Given the description of an element on the screen output the (x, y) to click on. 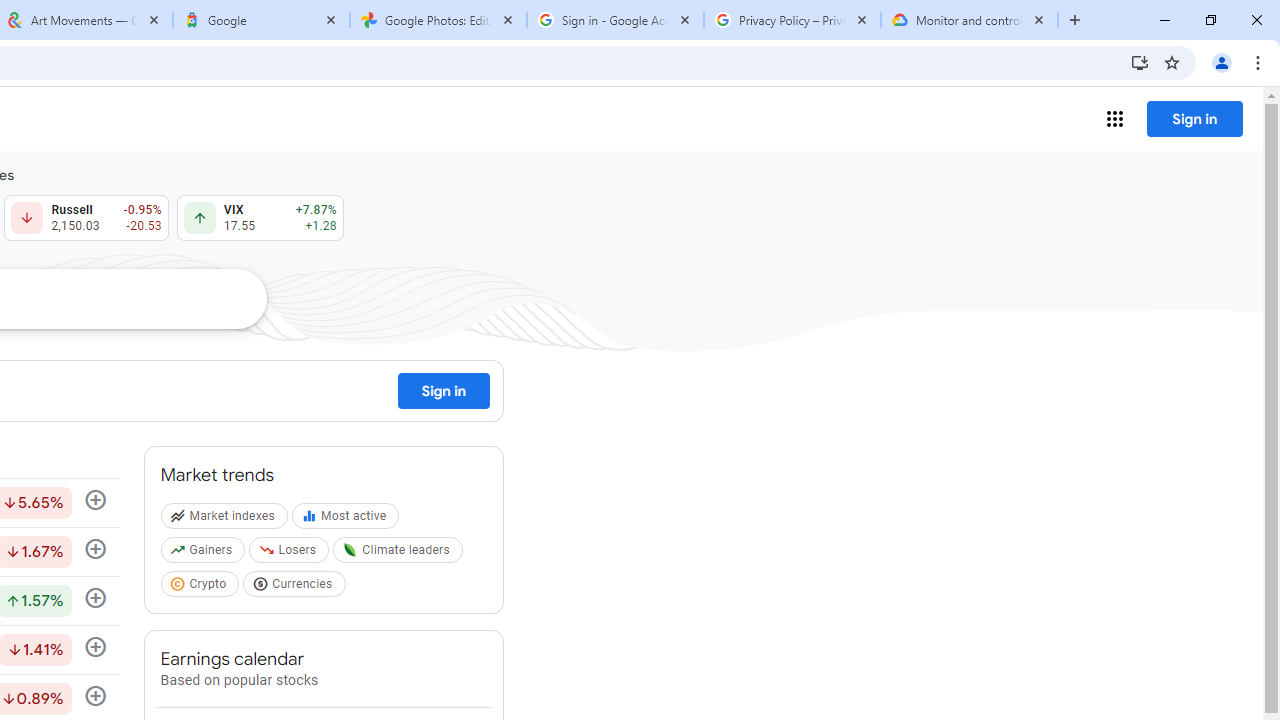
Follow (95, 647)
GLeaf logo Climate leaders (399, 553)
Sign in - Google Accounts (615, 20)
Install Google Finance (1139, 62)
Most active (347, 520)
GLeaf logo (349, 550)
Google (260, 20)
Gainers (204, 553)
